Given the description of an element on the screen output the (x, y) to click on. 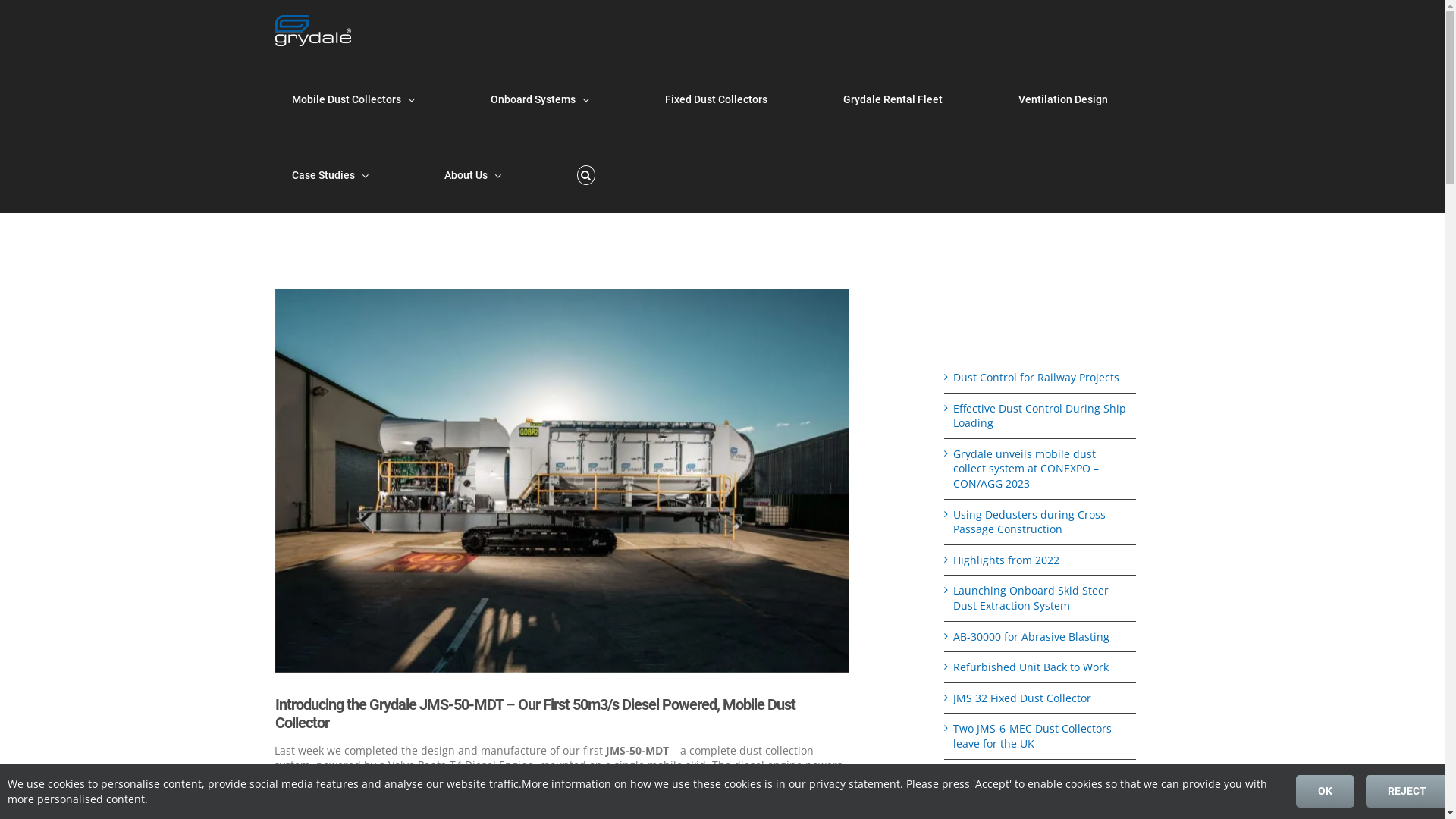
AB-30000 for Abrasive Blasting Element type: text (1031, 636)
Effective Dust Control During Ship Loading Element type: text (1039, 415)
Dust Control for Railway Projects Element type: text (1036, 377)
Mobile Dust Collectors Element type: text (352, 99)
View Larger Image Element type: text (561, 480)
Two JMS-6-MEC Dust Collectors leave for the UK Element type: text (1032, 735)
About Us Element type: text (472, 175)
REJECT Element type: text (1406, 791)
Refurbished Unit Back to Work Element type: text (1030, 666)
Ventilation Design Element type: text (1062, 99)
JMS 32 Fixed Dust Collector Element type: text (1022, 697)
Search Element type: hover (585, 175)
Using Dedusters during Cross Passage Construction Element type: text (1029, 521)
Onboard Systems Element type: text (539, 99)
OK Element type: text (1324, 791)
Grydale Rental Fleet Element type: text (892, 99)
Highlights from 2022 Element type: text (1006, 559)
Launching Onboard Skid Steer Dust Extraction System Element type: text (1030, 597)
Case Studies Element type: text (329, 175)
Fixed Dust Collectors Element type: text (715, 99)
